Given the description of an element on the screen output the (x, y) to click on. 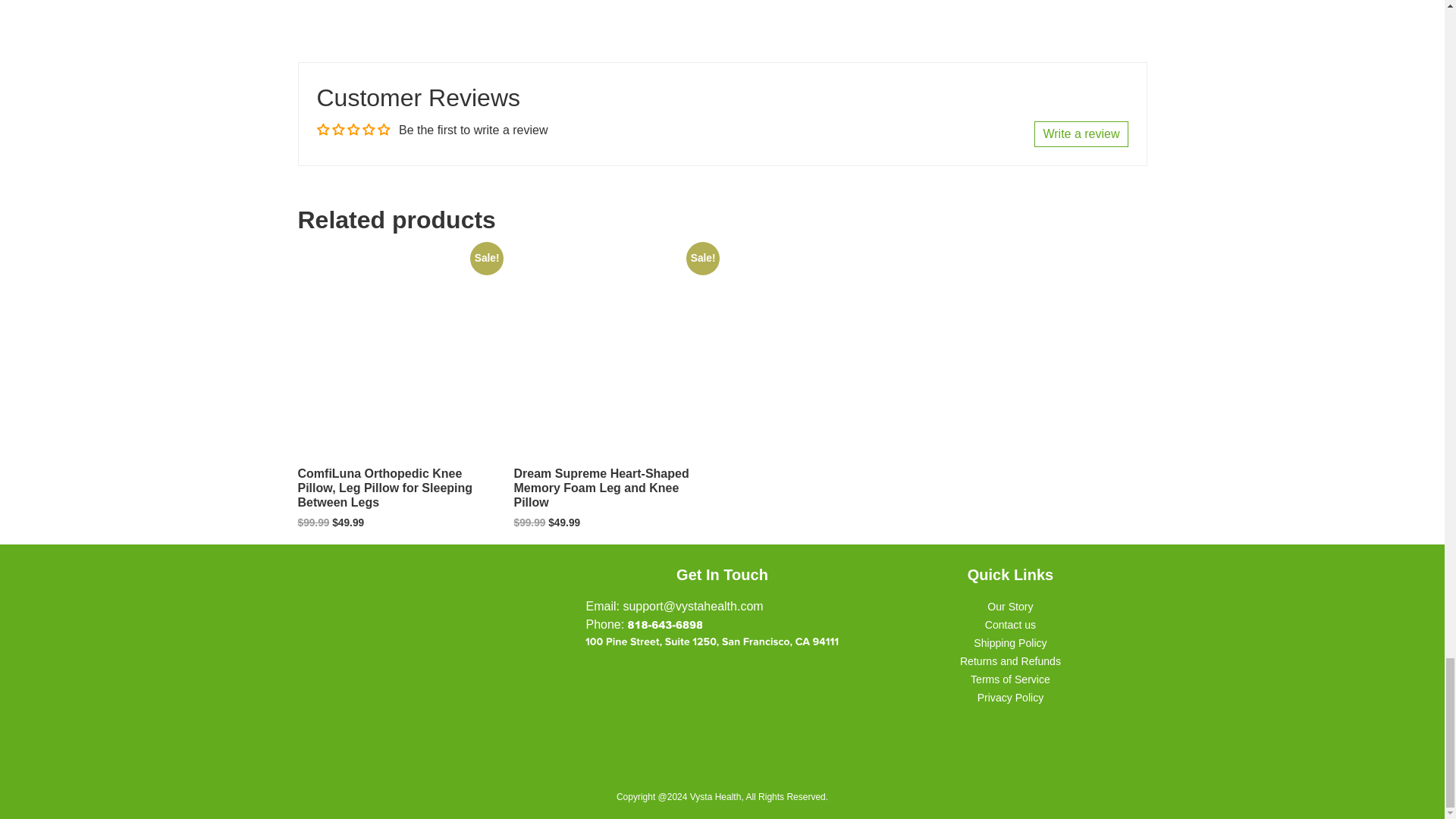
Privacy Policy (1009, 697)
Write a review (1079, 134)
Returns and Refunds (1010, 661)
Contact us (1010, 624)
Our Story (1009, 606)
Terms of Service (1010, 679)
Shipping Policy (1010, 643)
